Given the description of an element on the screen output the (x, y) to click on. 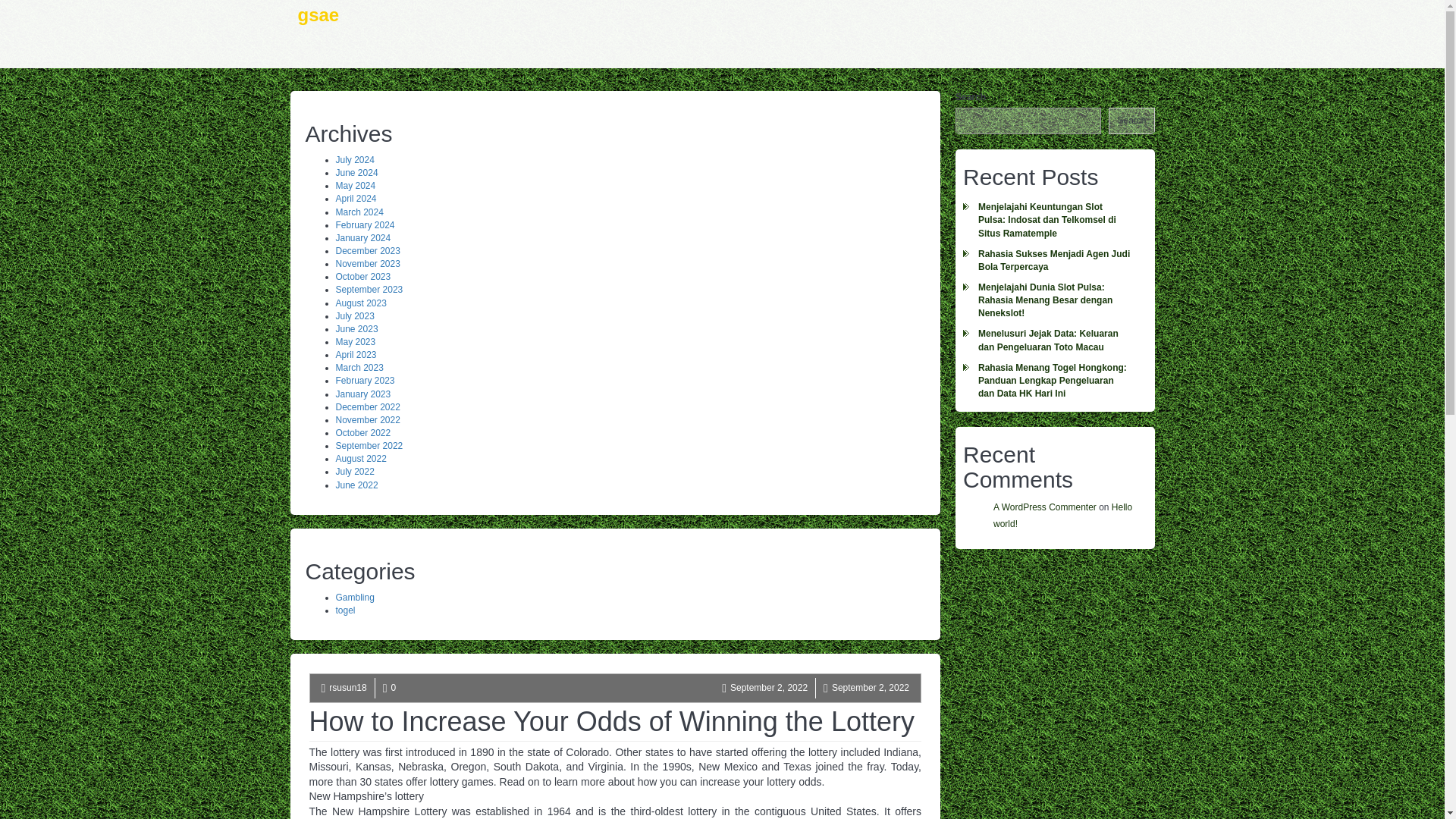
September 2022 (368, 445)
July 2023 (354, 316)
December 2023 (366, 250)
April 2023 (354, 354)
rsusun18 (347, 687)
March 2023 (358, 367)
January 2023 (362, 394)
June 2022 (355, 484)
February 2023 (364, 380)
October 2023 (362, 276)
December 2022 (366, 407)
May 2024 (354, 185)
July 2024 (354, 159)
July 2022 (354, 471)
